Given the description of an element on the screen output the (x, y) to click on. 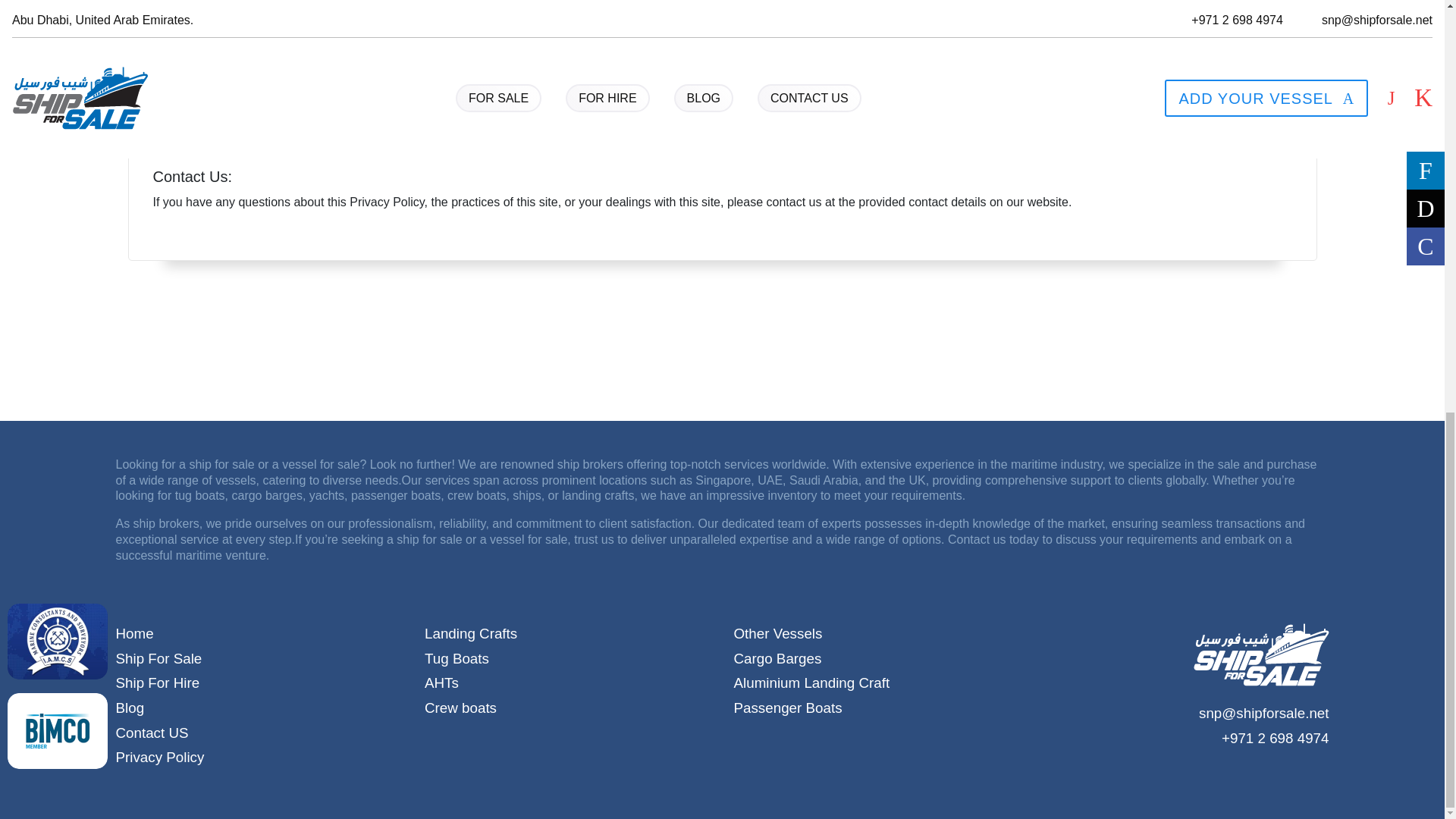
Landing Crafts (568, 634)
Crew boats (568, 708)
Passenger Boats (876, 708)
Privacy Policy (258, 757)
Ship For Hire (258, 683)
Home (258, 634)
Cargo Barges (876, 659)
Aluminium Landing Craft (876, 683)
Contact US (258, 733)
Ship For Sale (258, 659)
